Given the description of an element on the screen output the (x, y) to click on. 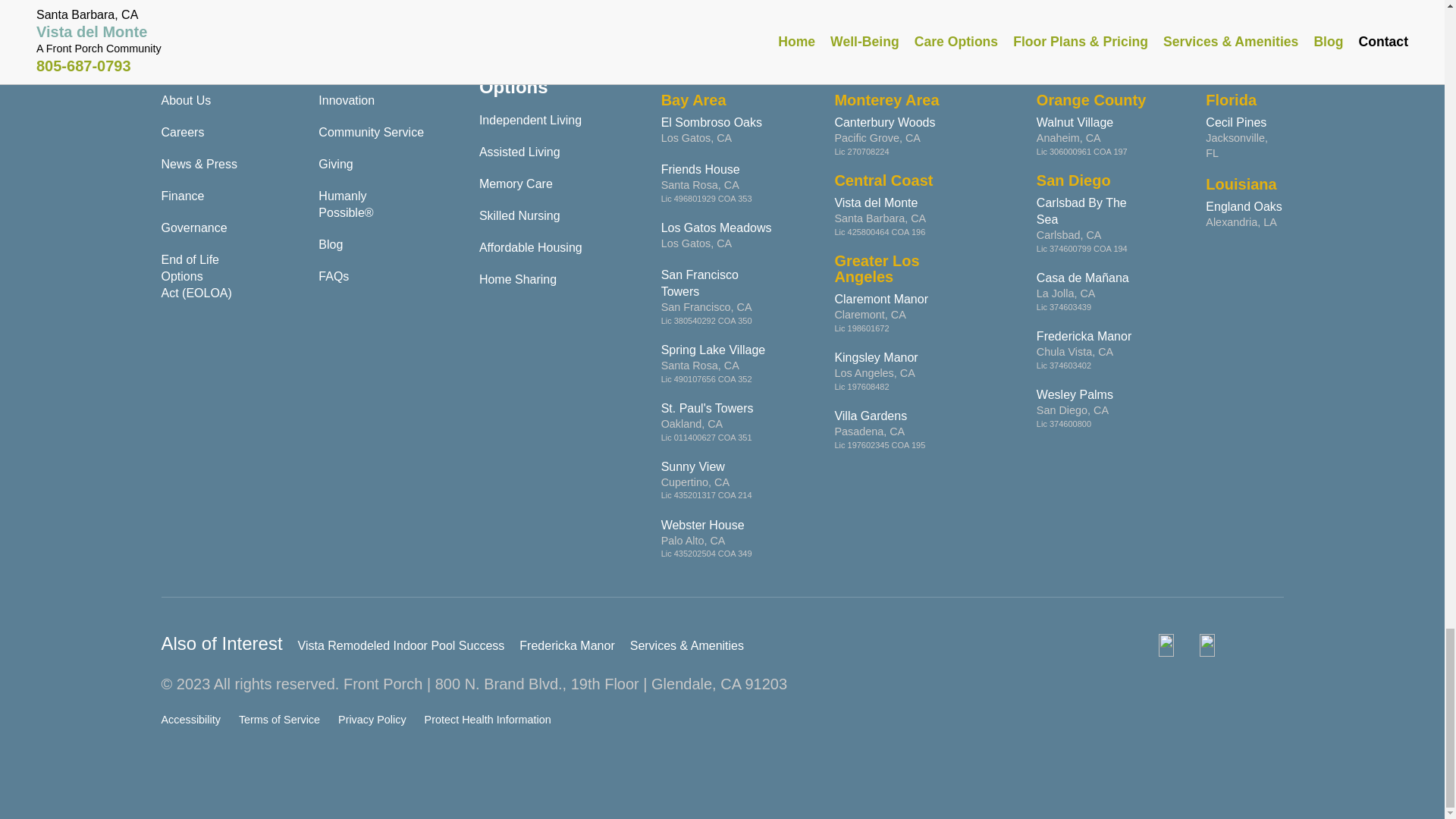
Careers (181, 132)
Governance (193, 227)
About Us (185, 100)
Innovation (346, 100)
Finance (181, 195)
